Given the description of an element on the screen output the (x, y) to click on. 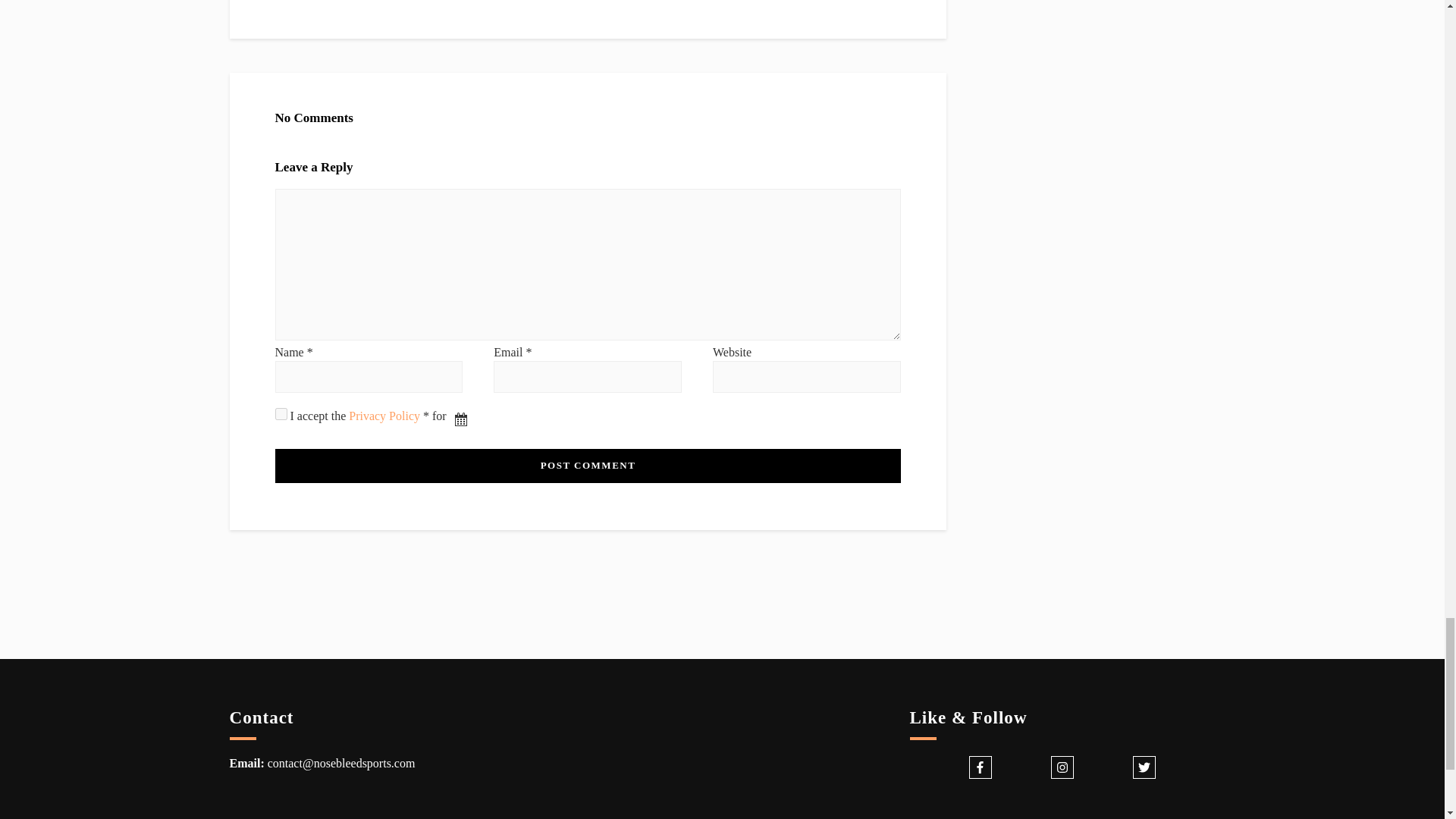
Post Comment (587, 465)
1 (280, 413)
